Given the description of an element on the screen output the (x, y) to click on. 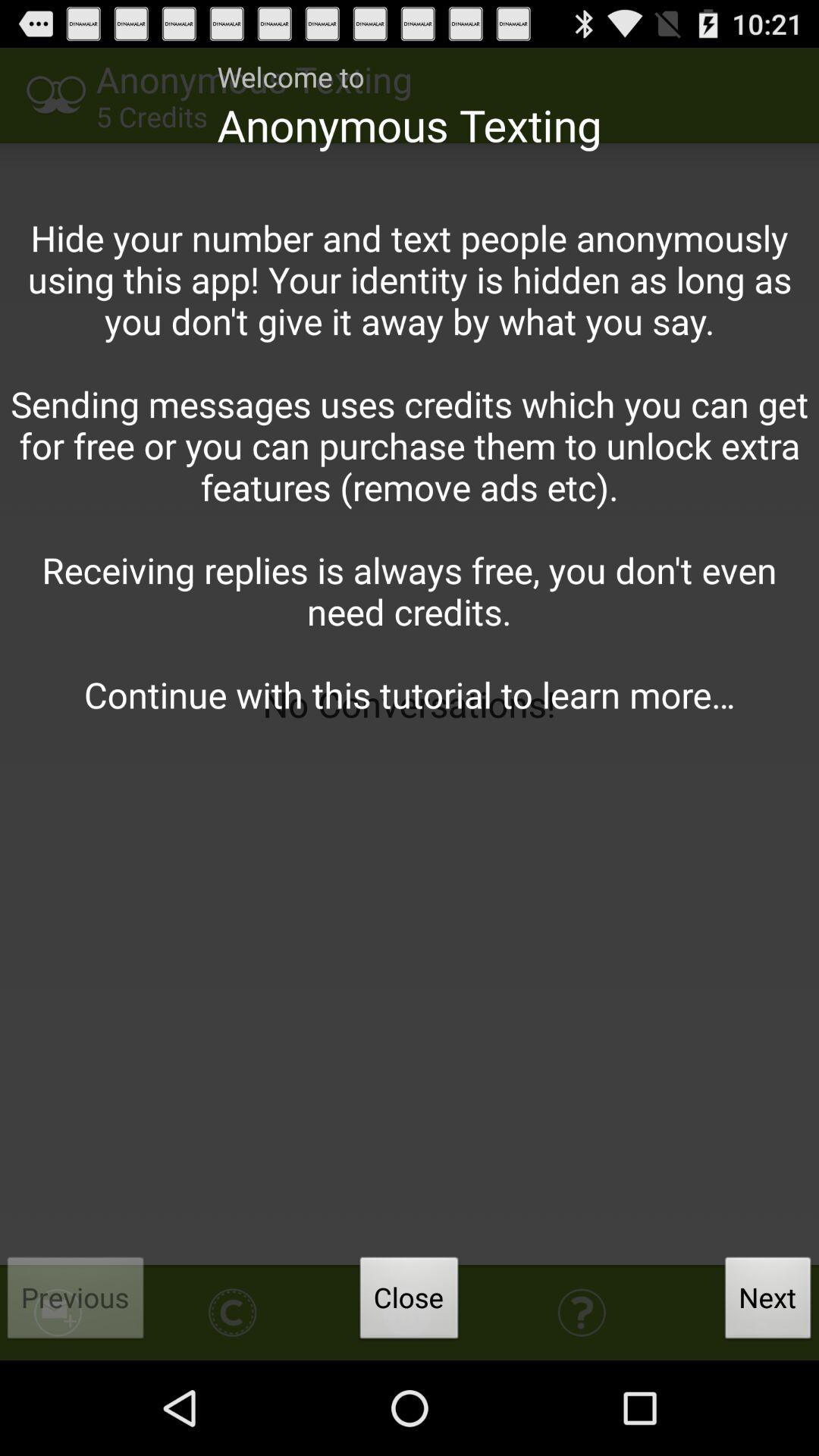
choose the next icon (768, 1302)
